Given the description of an element on the screen output the (x, y) to click on. 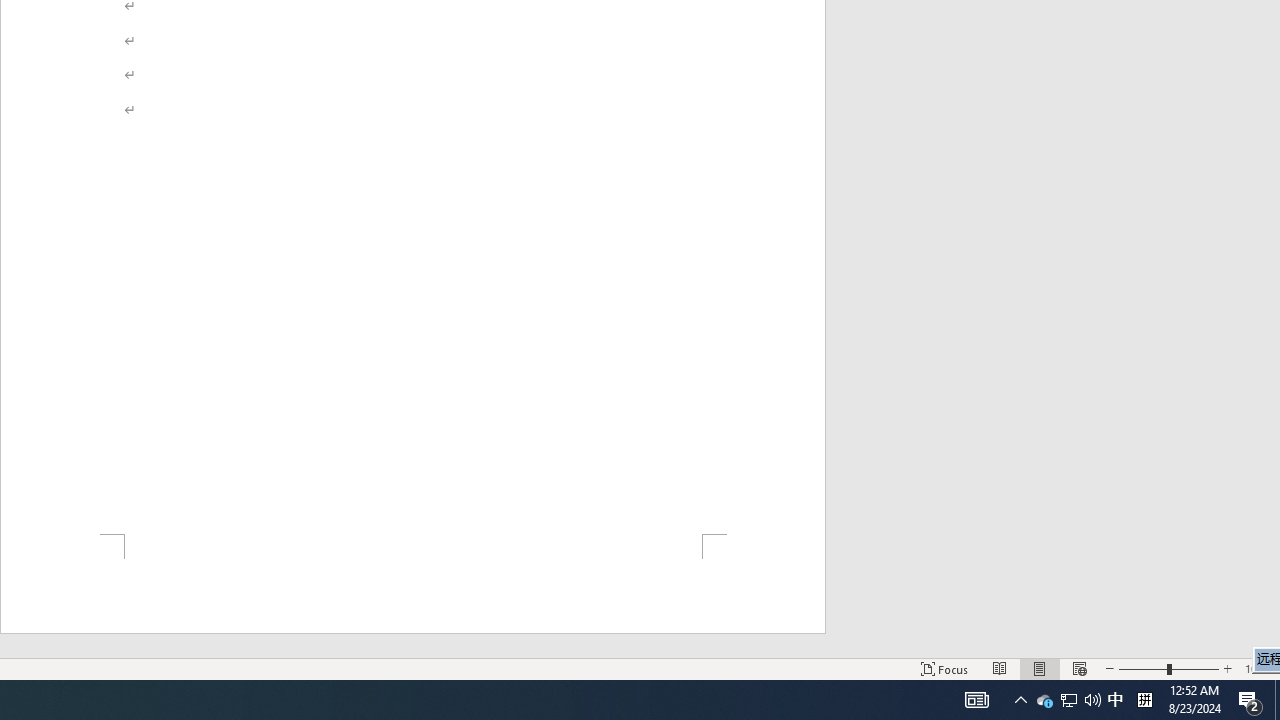
Show desktop (1277, 699)
Print Layout (1069, 699)
Action Center, 2 new notifications (1039, 668)
Tray Input Indicator - Chinese (Simplified, China) (1250, 699)
User Promoted Notification Area (1144, 699)
Q2790: 100% (1068, 699)
Web Layout (1092, 699)
Zoom Out (1079, 668)
AutomationID: 4105 (1142, 668)
Focus  (976, 699)
Notification Chevron (944, 668)
Zoom (1020, 699)
